Given the description of an element on the screen output the (x, y) to click on. 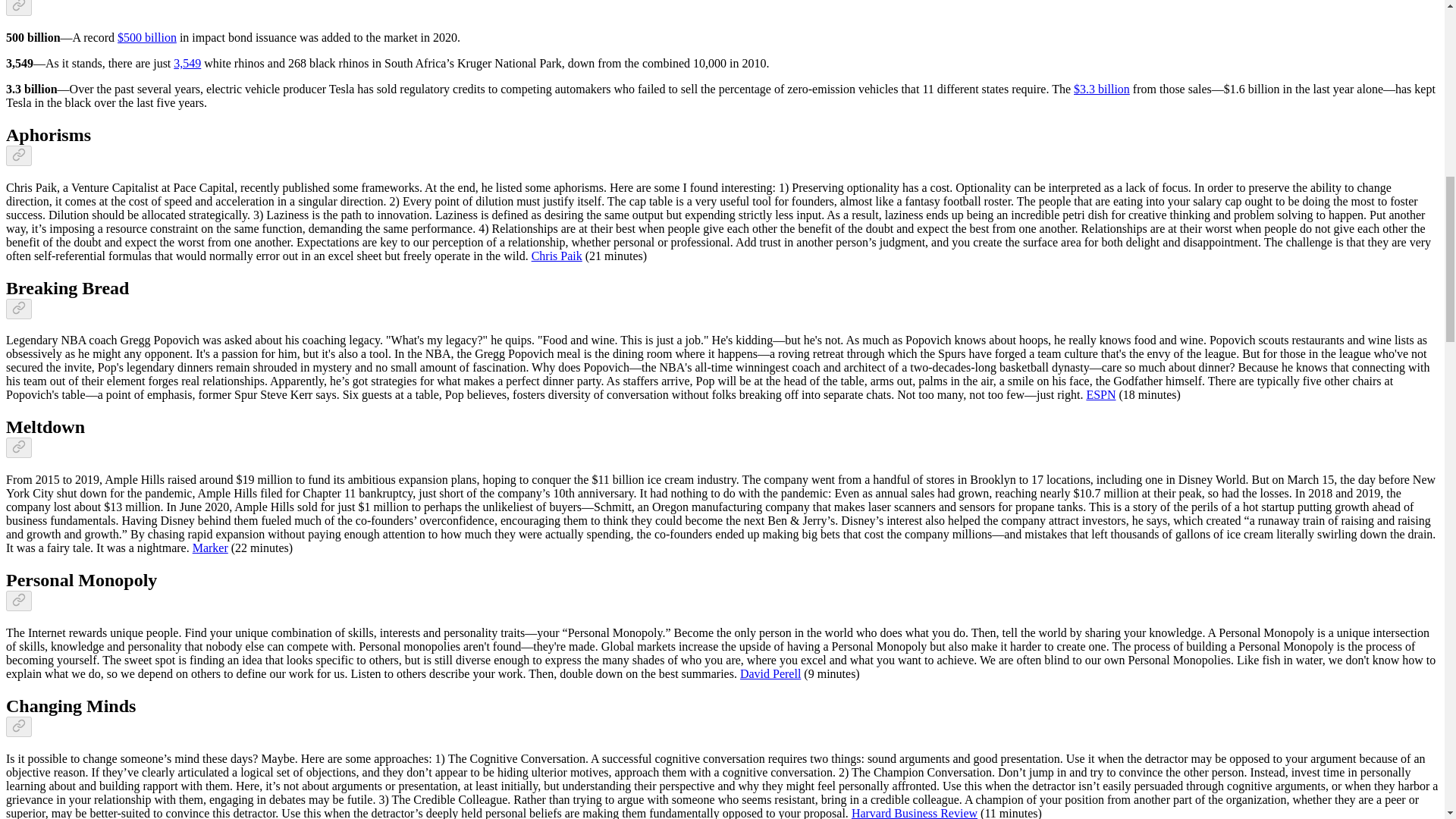
3,549 (186, 62)
ESPN (1100, 394)
David Perell (769, 673)
Chris Paik (556, 255)
Harvard Business Review (913, 812)
Marker (210, 547)
